Given the description of an element on the screen output the (x, y) to click on. 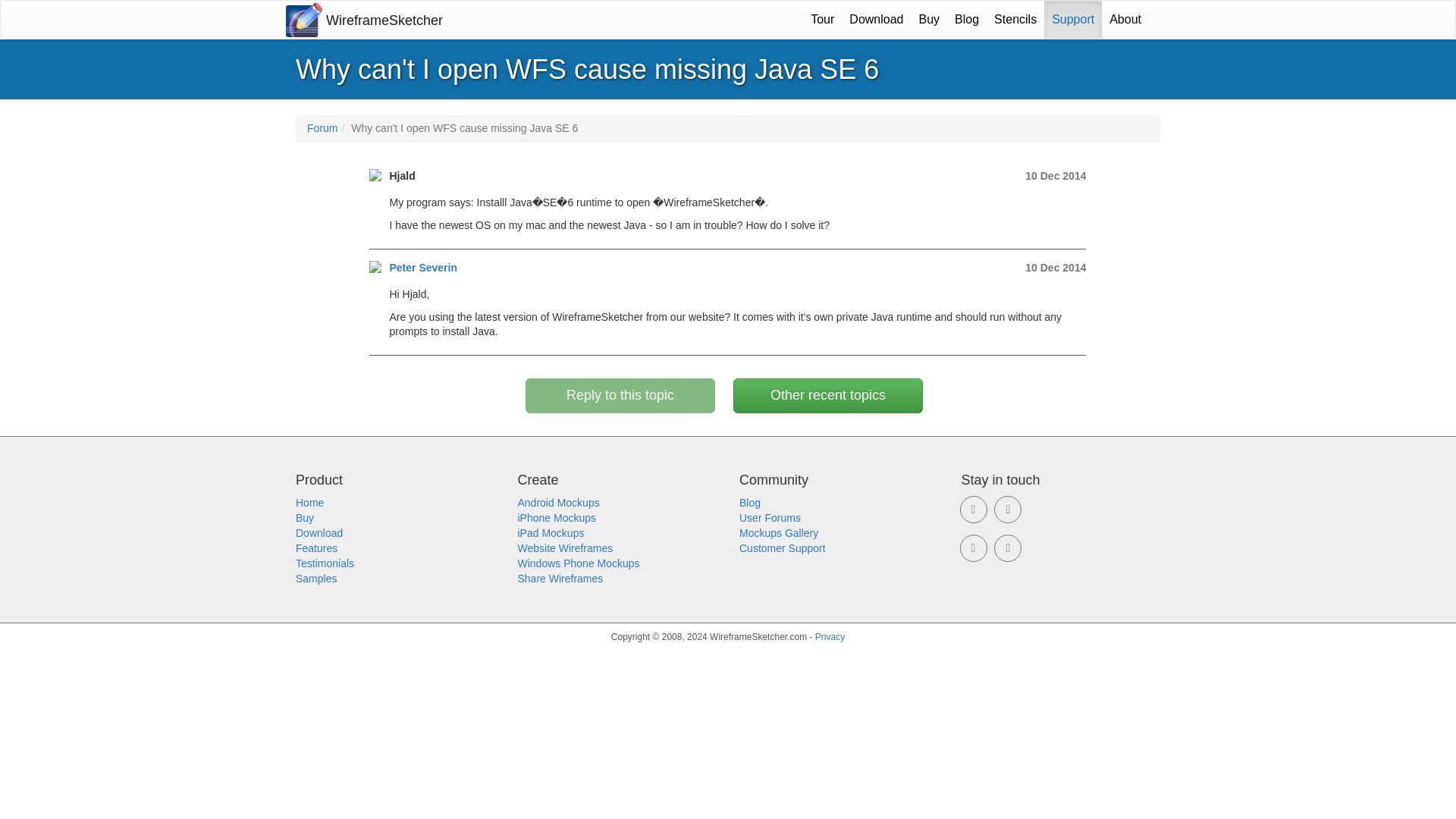
User Forums (769, 517)
Subcribe to our Blog (1008, 547)
Mockups Gallery (778, 532)
Website Wireframes (564, 548)
Stencils (1015, 19)
WireframeSketcher (362, 19)
Customer Support (782, 548)
Send us an E-mail (973, 509)
Blog (749, 502)
Follow us on X Twitter (973, 547)
iPhone Mockups (555, 517)
Download (876, 19)
Other recent topics (828, 395)
Buy (304, 517)
About (1125, 19)
